Given the description of an element on the screen output the (x, y) to click on. 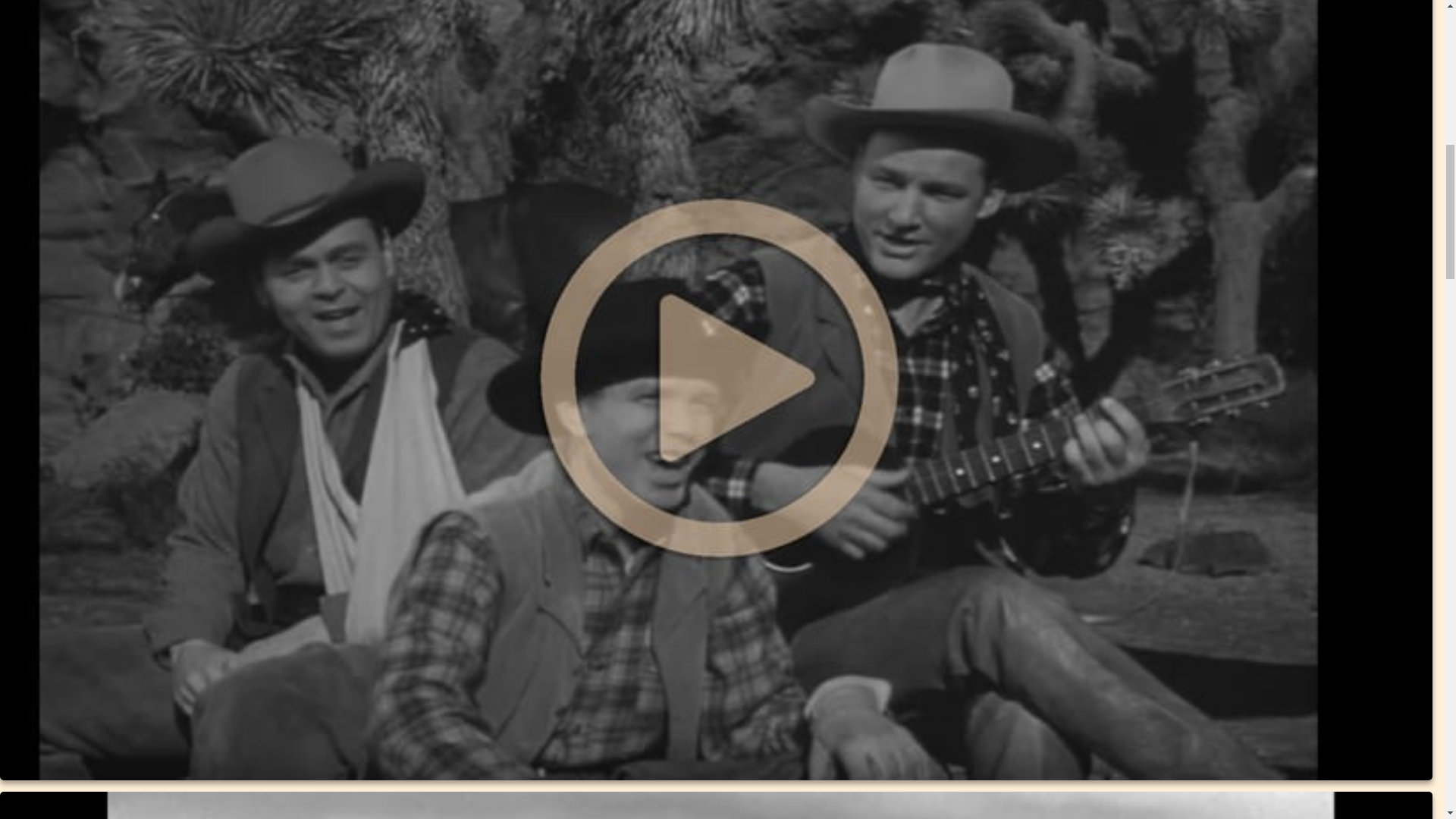
Silver Canyon (716, 805)
Silver Canyon (716, 805)
